Given the description of an element on the screen output the (x, y) to click on. 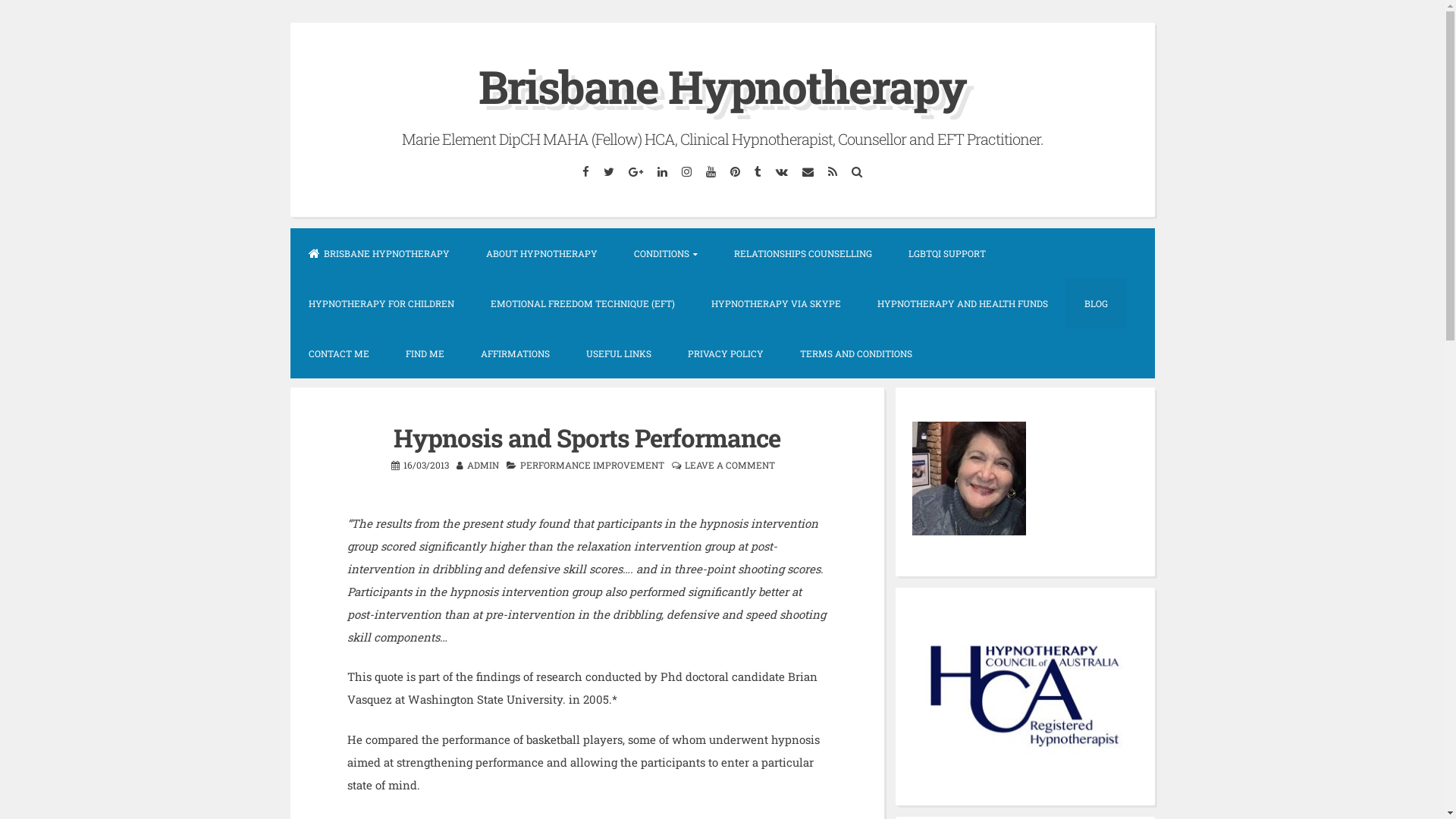
ADMIN Element type: text (482, 464)
HYPNOTHERAPY AND HEALTH FUNDS Element type: text (961, 302)
Email Element type: text (807, 170)
HYPNOTHERAPY VIA SKYPE Element type: text (776, 302)
Twitter Element type: text (608, 170)
Linkedin Element type: text (662, 170)
CONTACT ME Element type: text (337, 352)
BRISBANE HYPNOTHERAPY Element type: text (378, 252)
BLOG Element type: text (1096, 302)
RSS Element type: text (832, 170)
USEFUL LINKS Element type: text (617, 352)
HYPNOTHERAPY FOR CHILDREN Element type: text (380, 302)
YouTube Element type: text (710, 170)
Pinterest Element type: text (735, 170)
Brisbane Hypnotherapy Element type: text (722, 86)
AFFIRMATIONS Element type: text (514, 352)
VK Element type: text (781, 170)
Instagram Element type: text (686, 170)
LEAVE A COMMENT Element type: text (729, 464)
Google Plus Element type: text (636, 170)
LGBTQI SUPPORT Element type: text (947, 252)
FIND ME Element type: text (423, 352)
TERMS AND CONDITIONS Element type: text (855, 352)
Tumblr Element type: text (758, 170)
PRIVACY POLICY Element type: text (724, 352)
EMOTIONAL FREEDOM TECHNIQUE (EFT) Element type: text (581, 302)
Facebook Element type: text (585, 170)
Search Element type: text (857, 170)
PERFORMANCE IMPROVEMENT Element type: text (592, 464)
RELATIONSHIPS COUNSELLING Element type: text (802, 252)
ABOUT HYPNOTHERAPY Element type: text (541, 252)
Skip to content Element type: text (289, 22)
16/03/2013 Element type: text (425, 464)
CONDITIONS Element type: text (665, 252)
